Given the description of an element on the screen output the (x, y) to click on. 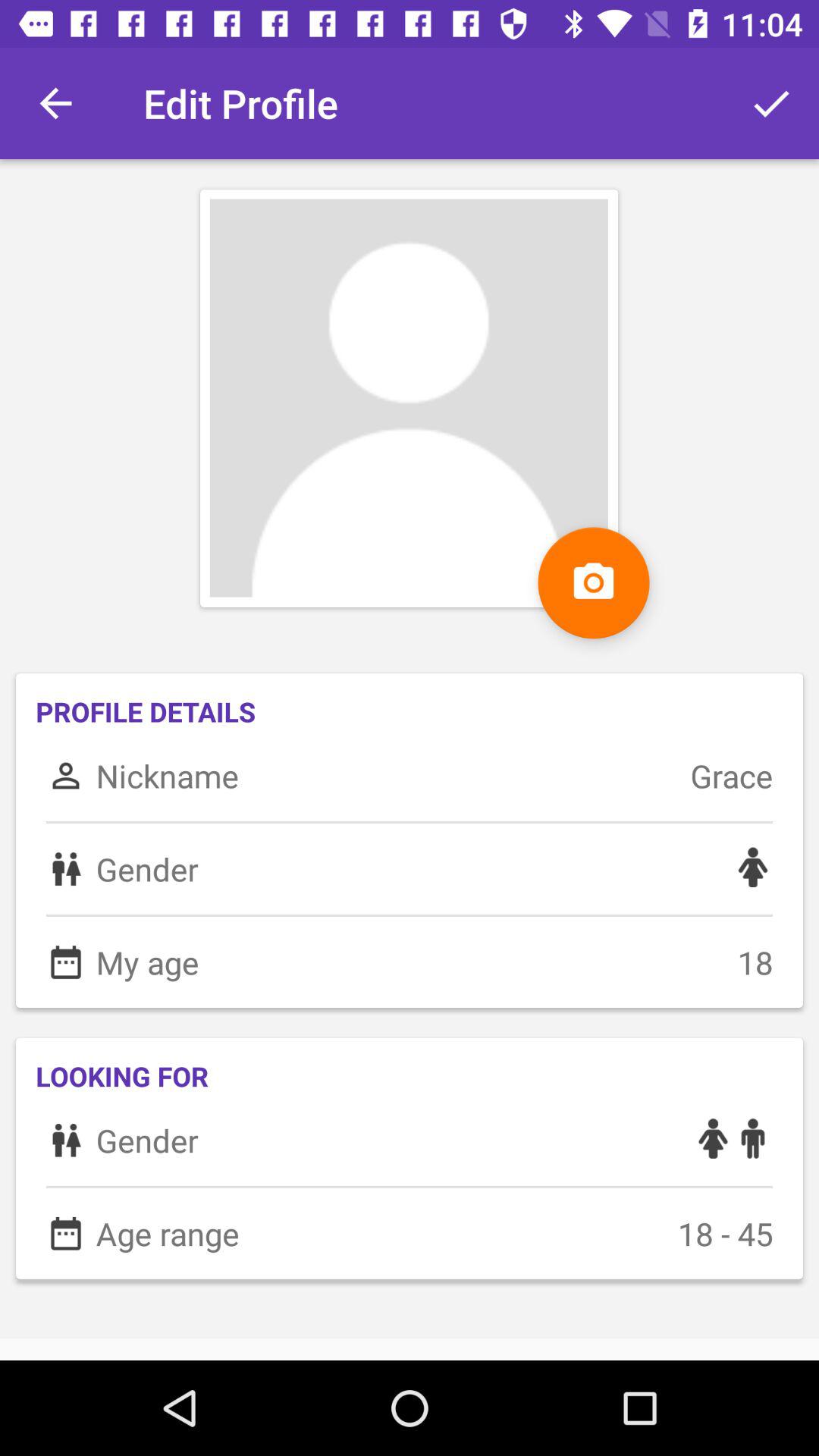
launch the item above the nickname (593, 582)
